Given the description of an element on the screen output the (x, y) to click on. 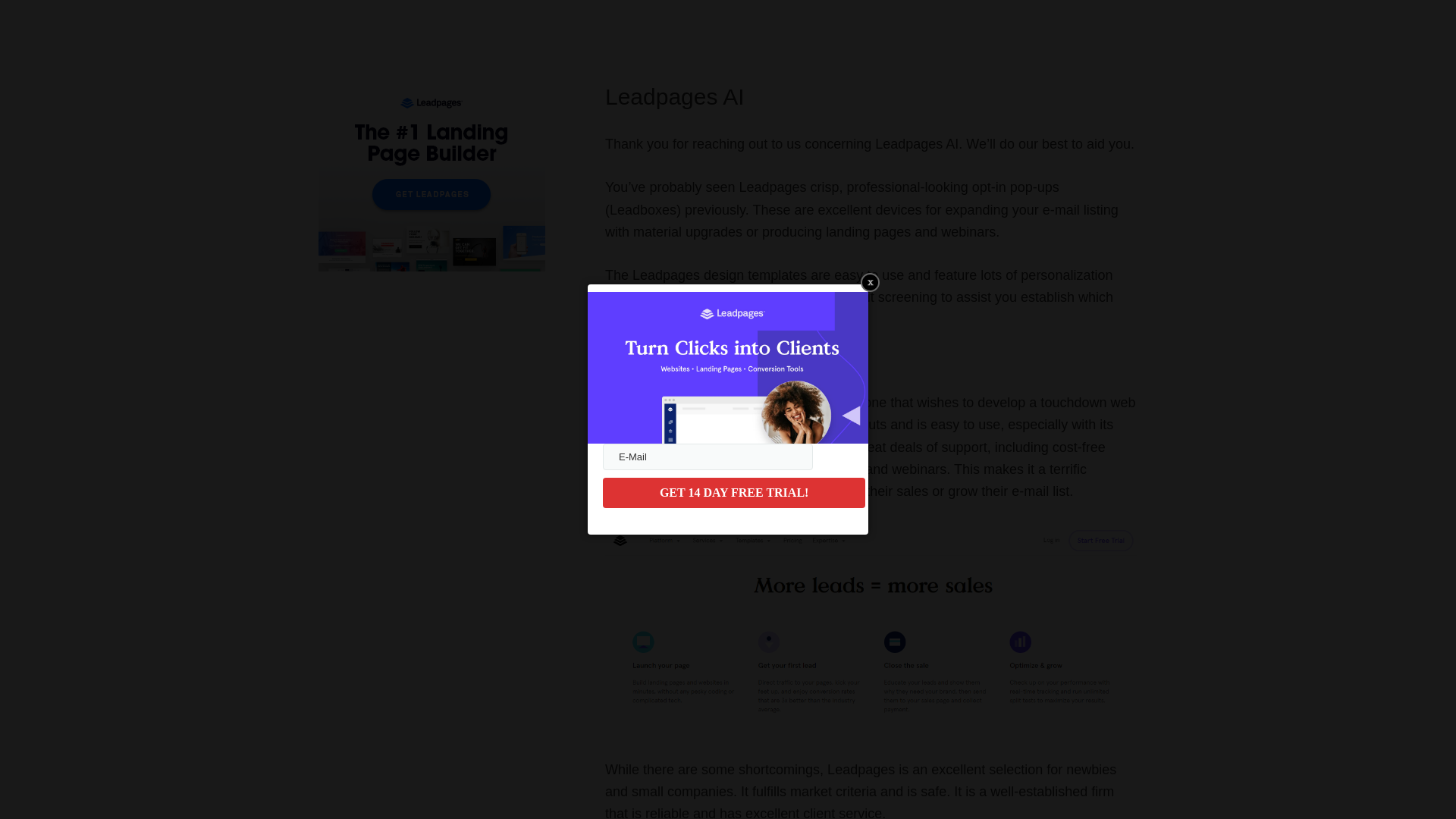
GET 14 DAY FREE TRIAL! (733, 492)
GET 14 DAY FREE TRIAL! (733, 492)
